Given the description of an element on the screen output the (x, y) to click on. 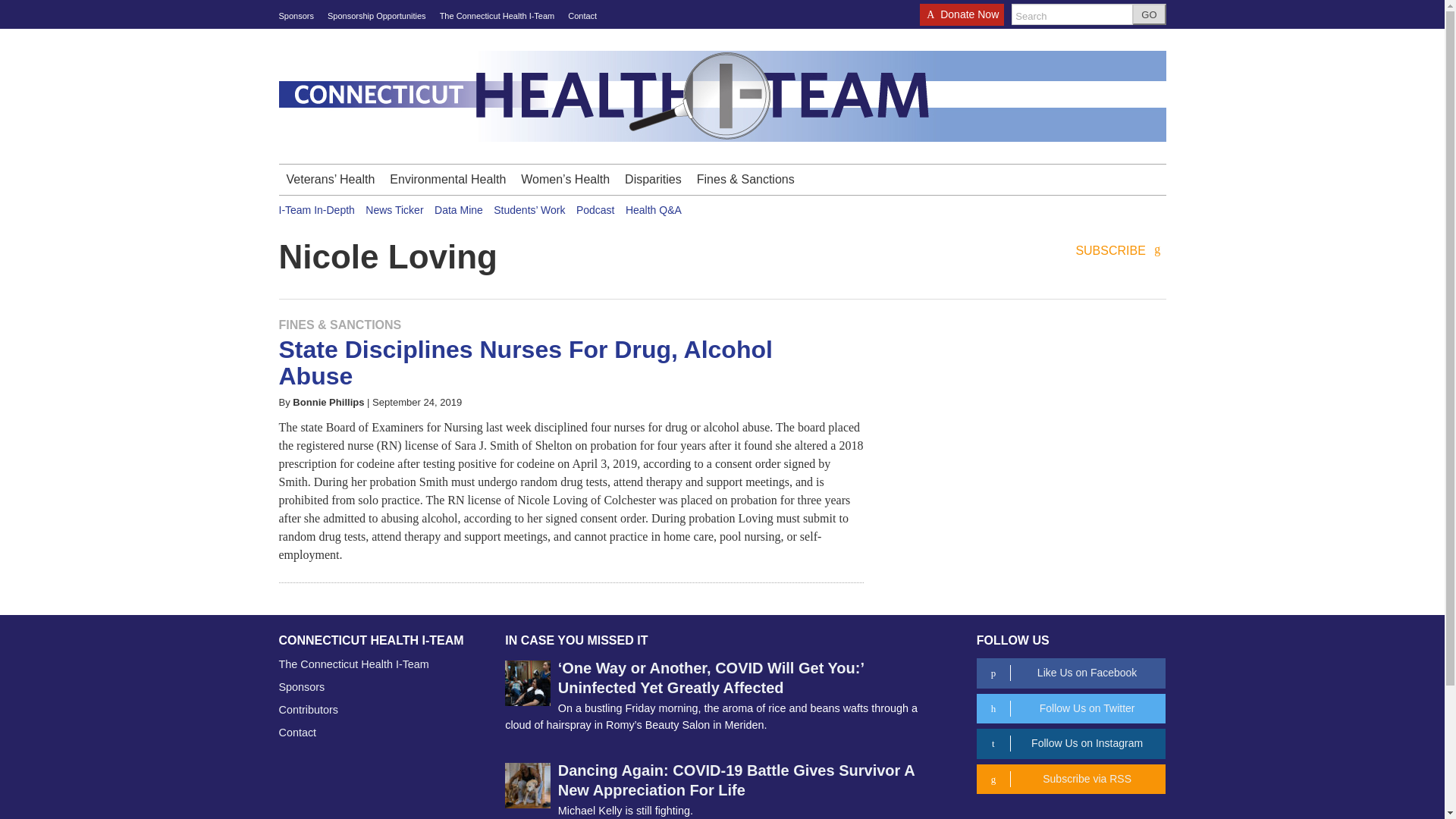
I-Team In-Depth (317, 209)
GO (1149, 14)
Data Mine (458, 209)
Donate Now (962, 19)
The Connecticut Health I-Team (496, 15)
Sponsorship Opportunities (376, 15)
Environmental Health (447, 179)
Disparities (652, 179)
Contact (581, 15)
Podcast (595, 209)
More from Bonnie Phillips (328, 401)
Sponsors (296, 15)
SUBSCRIBE (1120, 251)
News Ticker (394, 209)
